Given the description of an element on the screen output the (x, y) to click on. 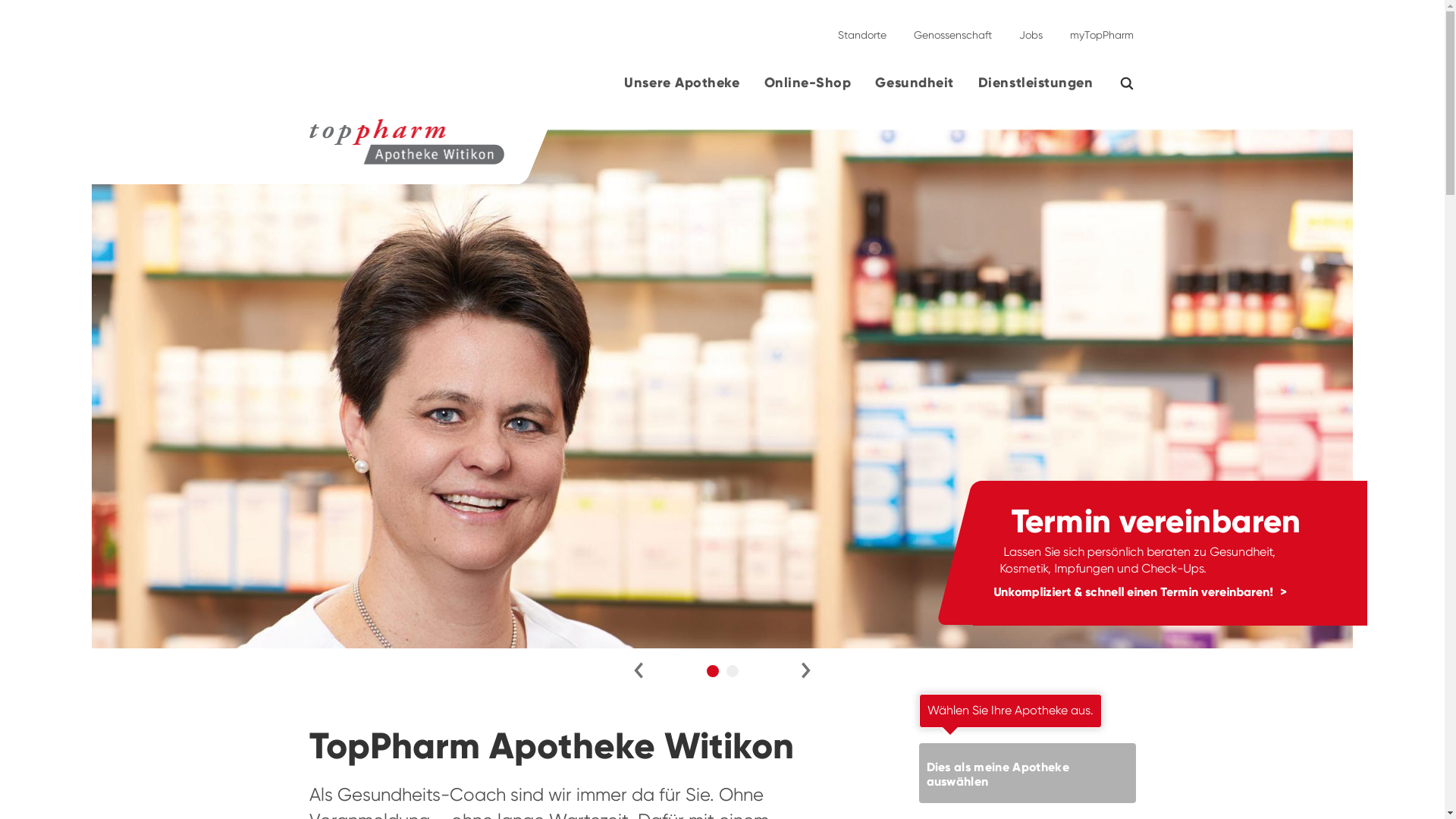
Standorte Element type: text (861, 29)
Unsere Apotheke Element type: text (681, 88)
Gesundheit Element type: text (913, 88)
Jobs Element type: text (1030, 29)
myTopPharm Element type: text (1096, 29)
Online-Shop Element type: text (807, 88)
Genossenschaft Element type: text (951, 29)
Suche Element type: text (1135, 82)
Dienstleistungen Element type: text (1035, 88)
